Given the description of an element on the screen output the (x, y) to click on. 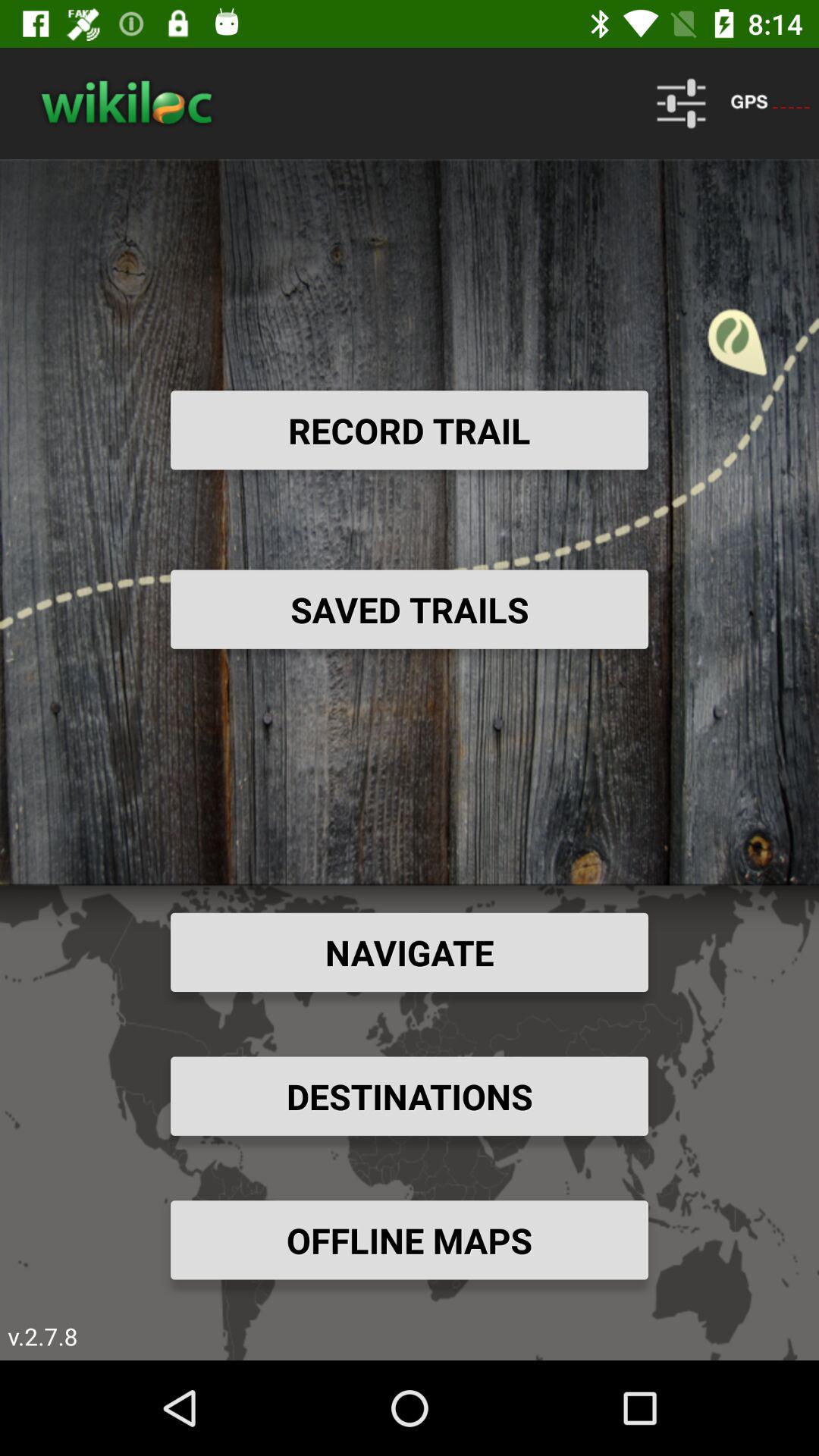
flip until offline maps item (409, 1239)
